Given the description of an element on the screen output the (x, y) to click on. 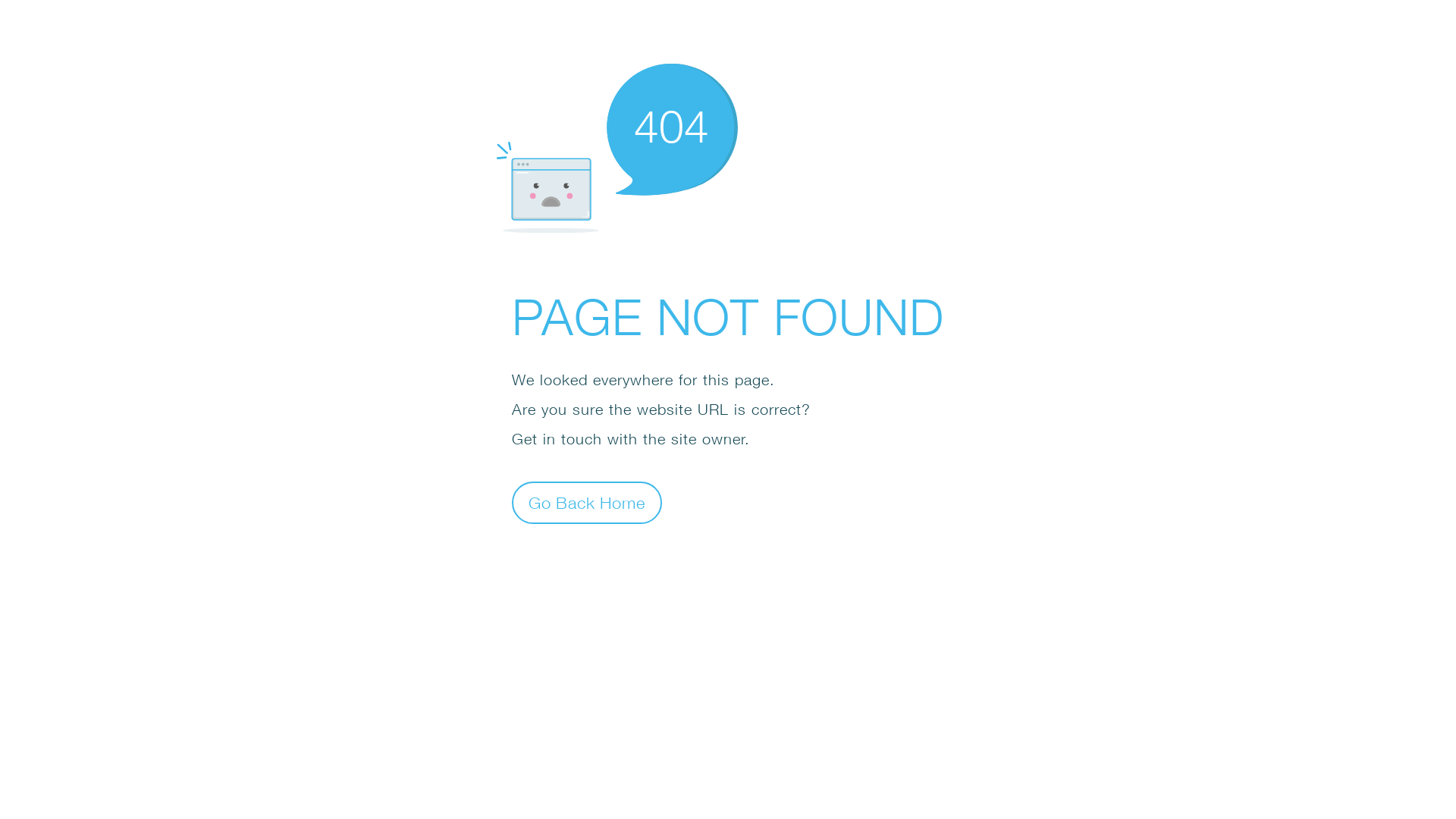
Go Back Home Element type: text (586, 502)
